Given the description of an element on the screen output the (x, y) to click on. 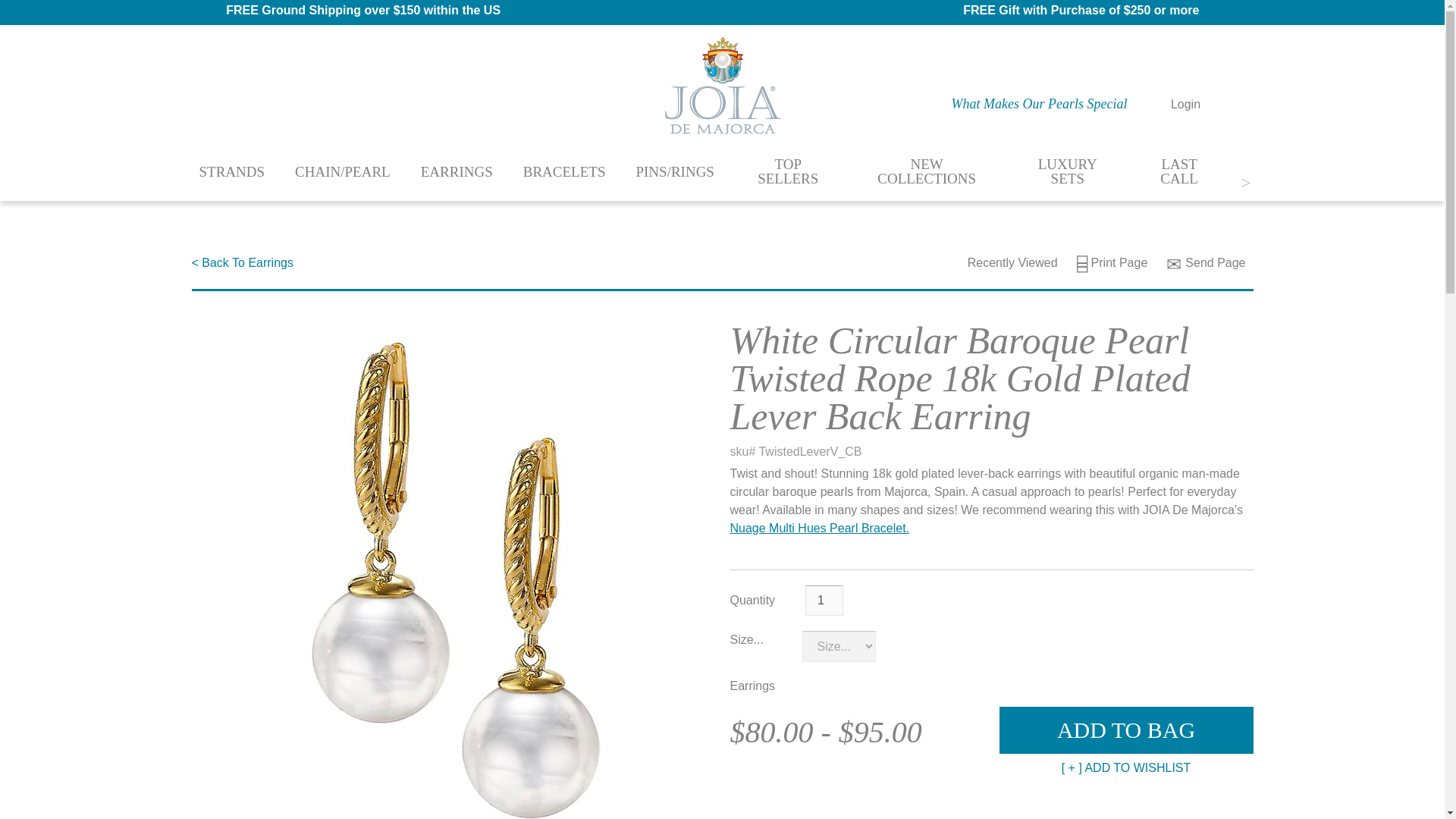
0 (1229, 103)
NEW COLLECTIONS (927, 170)
Size... (745, 639)
EARRINGS (457, 170)
Nuage Multi Hues Pearl Bracelet. (818, 527)
TOP SELLERS (788, 170)
ADD TO BAG (1126, 730)
BRACELETS (564, 170)
LAST CALL (1179, 170)
Recently Viewed (1003, 263)
